Given the description of an element on the screen output the (x, y) to click on. 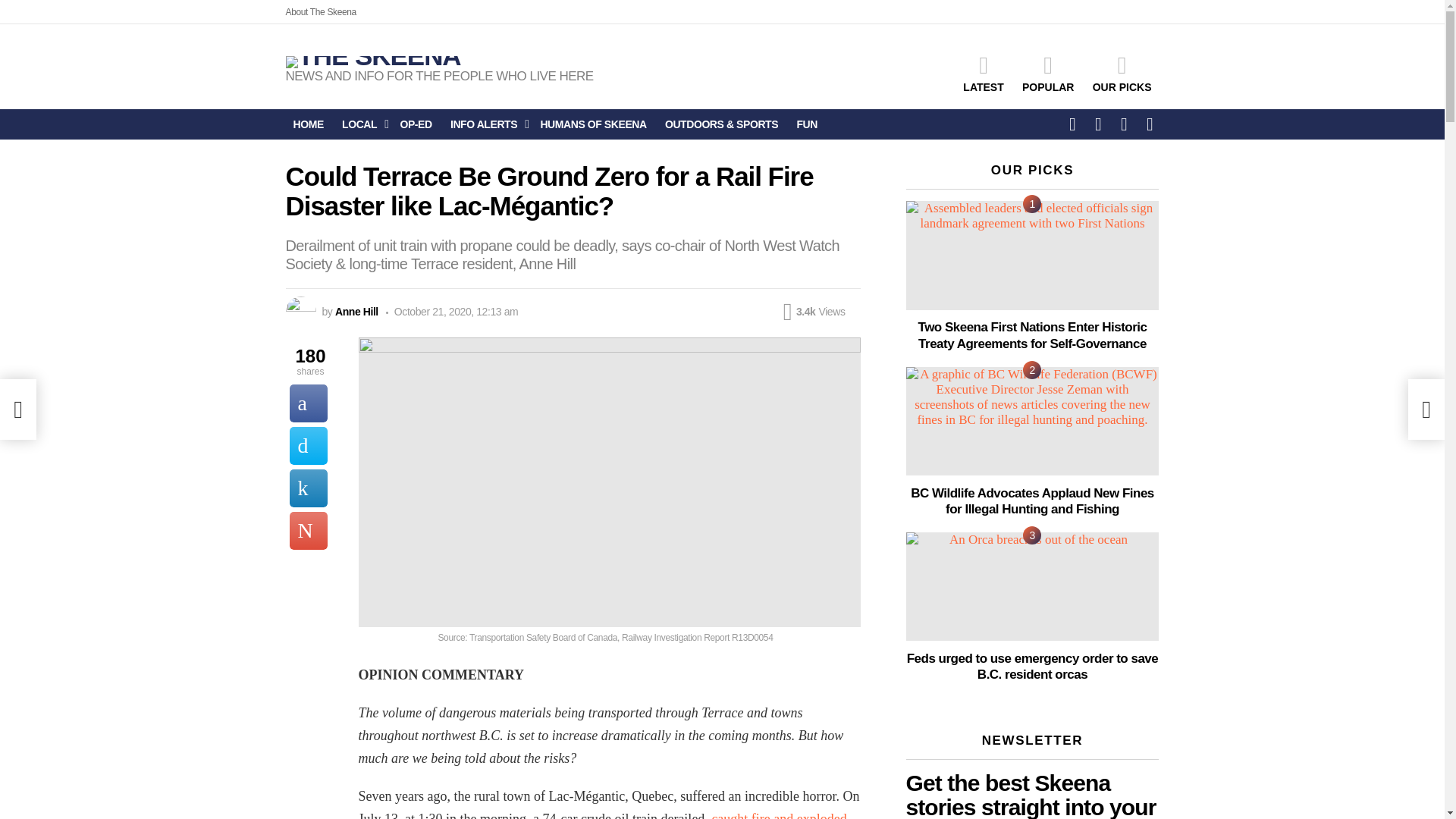
OUR PICKS (1121, 73)
HOME (307, 124)
HUMANS OF SKEENA (592, 124)
POPULAR (1047, 73)
INFO ALERTS (485, 124)
LOCAL (361, 124)
Share on LinkedIn (308, 487)
OP-ED (415, 124)
Share on Facebook (308, 403)
LATEST (982, 73)
Posts by Anne Hill (356, 311)
About The Skeena (320, 12)
Share on Gmail (308, 530)
FUN (807, 124)
